Given the description of an element on the screen output the (x, y) to click on. 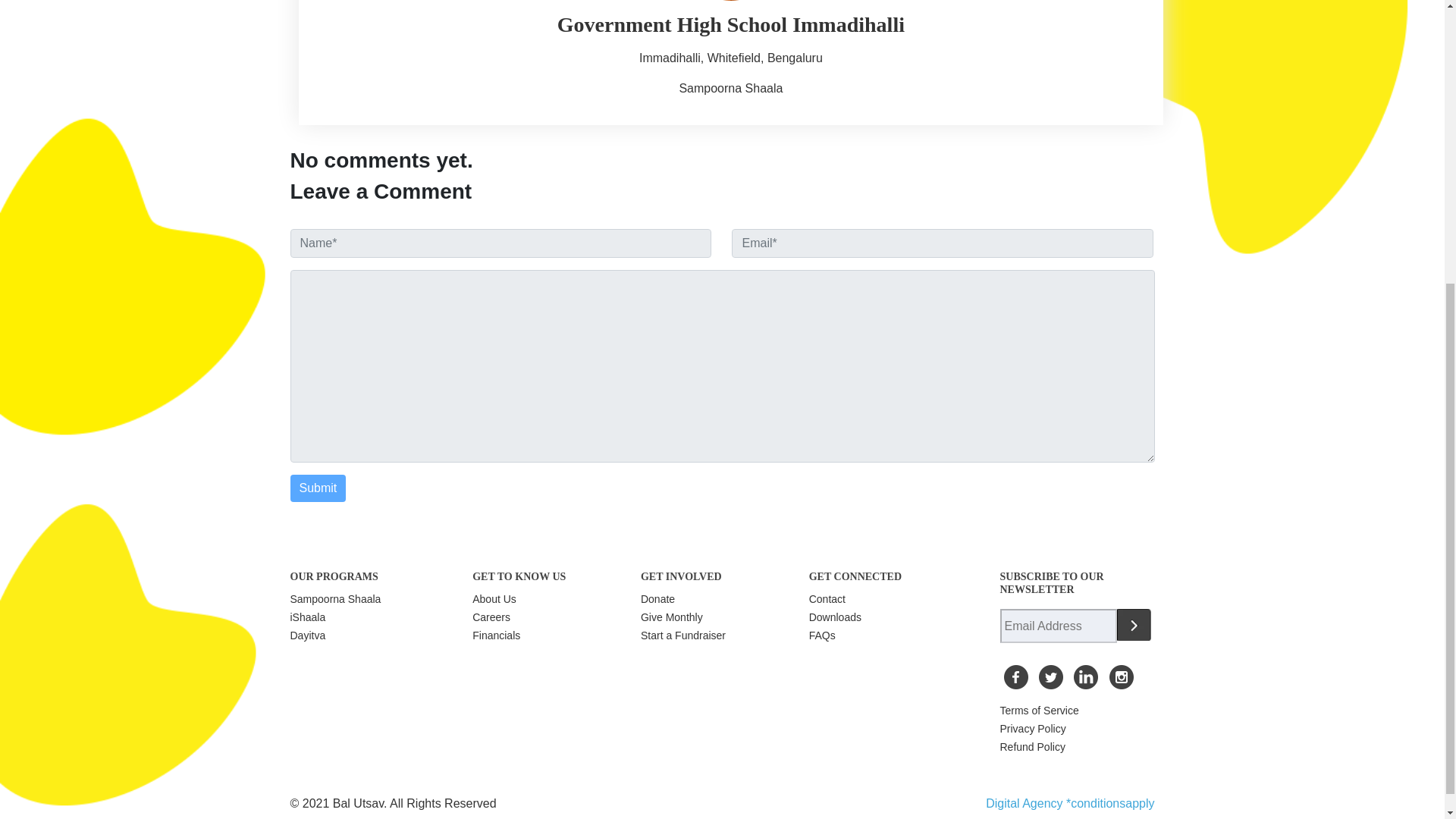
Contact (827, 598)
About Us (493, 598)
Refund Policy (1031, 746)
Start a Fundraiser (682, 635)
Donate (657, 598)
Submit (317, 488)
Downloads (835, 616)
Careers (491, 616)
Dayitva (306, 635)
Financials (495, 635)
